Given the description of an element on the screen output the (x, y) to click on. 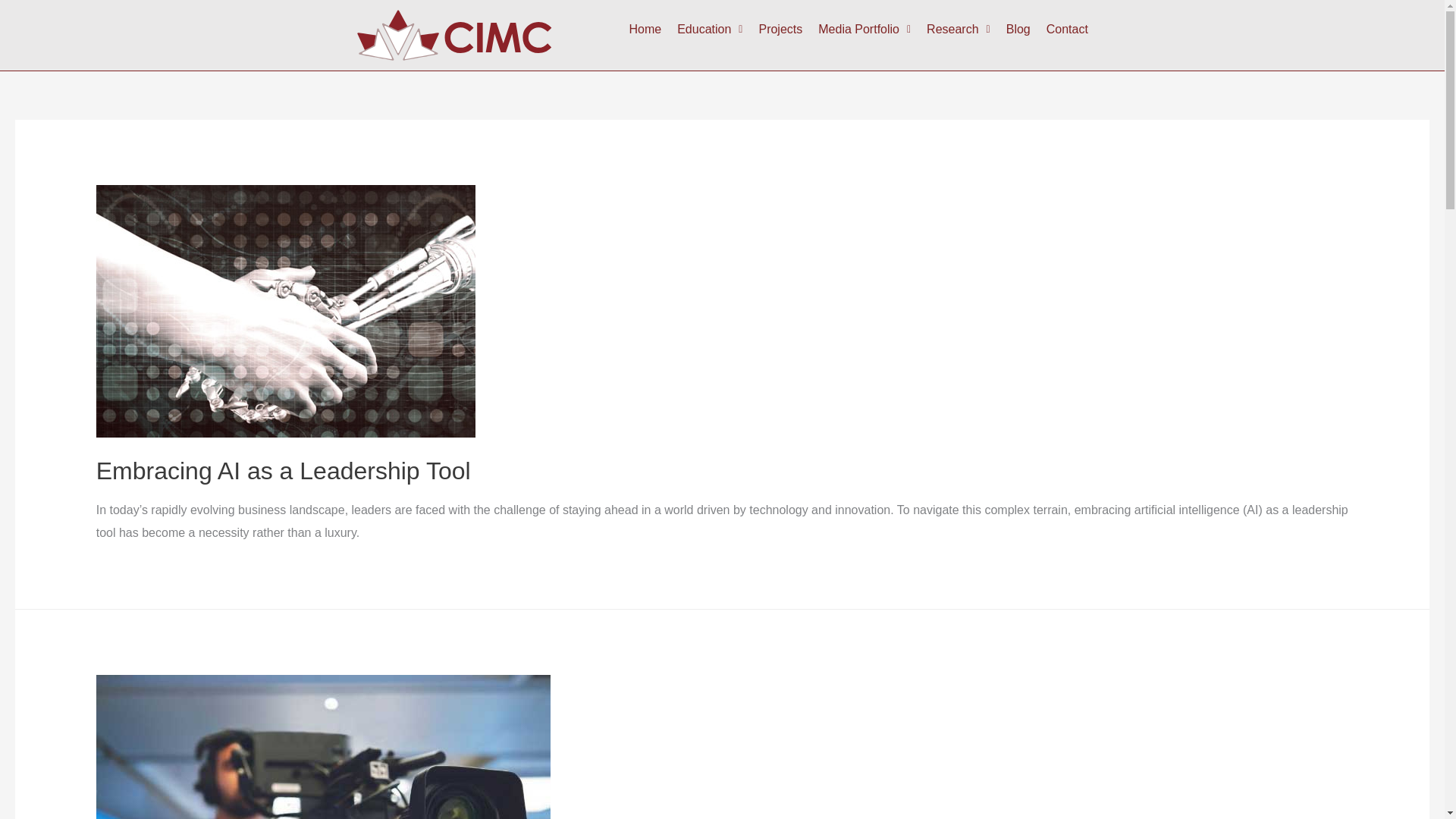
Media Portfolio (864, 29)
Education (709, 29)
Embracing AI as a Leadership Tool (283, 470)
Research (958, 29)
Contact (1066, 29)
Projects (780, 29)
